Given the description of an element on the screen output the (x, y) to click on. 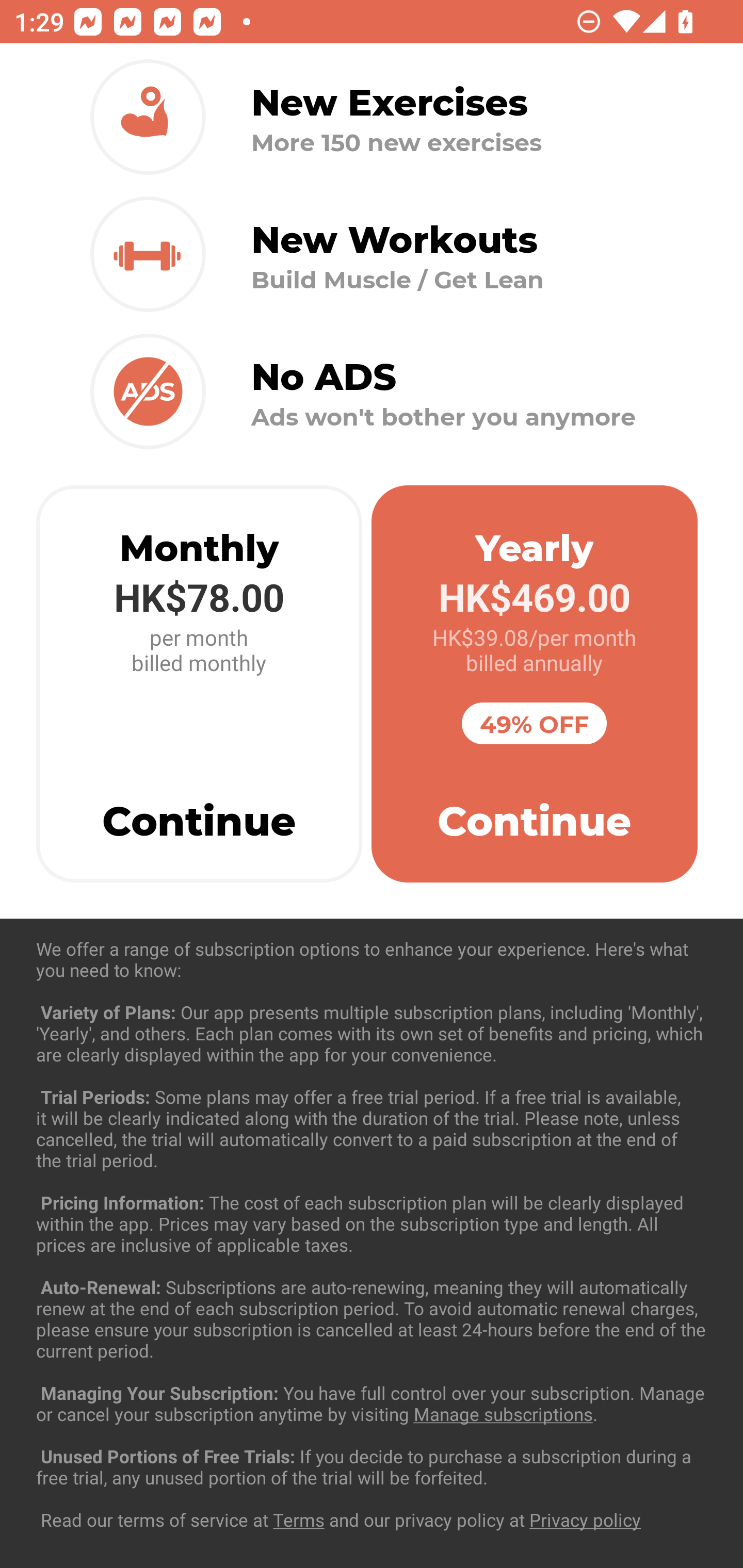
Monthly HK$78.00 per month
billed monthly Continue (199, 684)
Exercise Chest 37 exercises (371, 1033)
Exercise Forearms 4 exercises (371, 1232)
Exercise Legs 36 exercises (371, 1430)
